Given the description of an element on the screen output the (x, y) to click on. 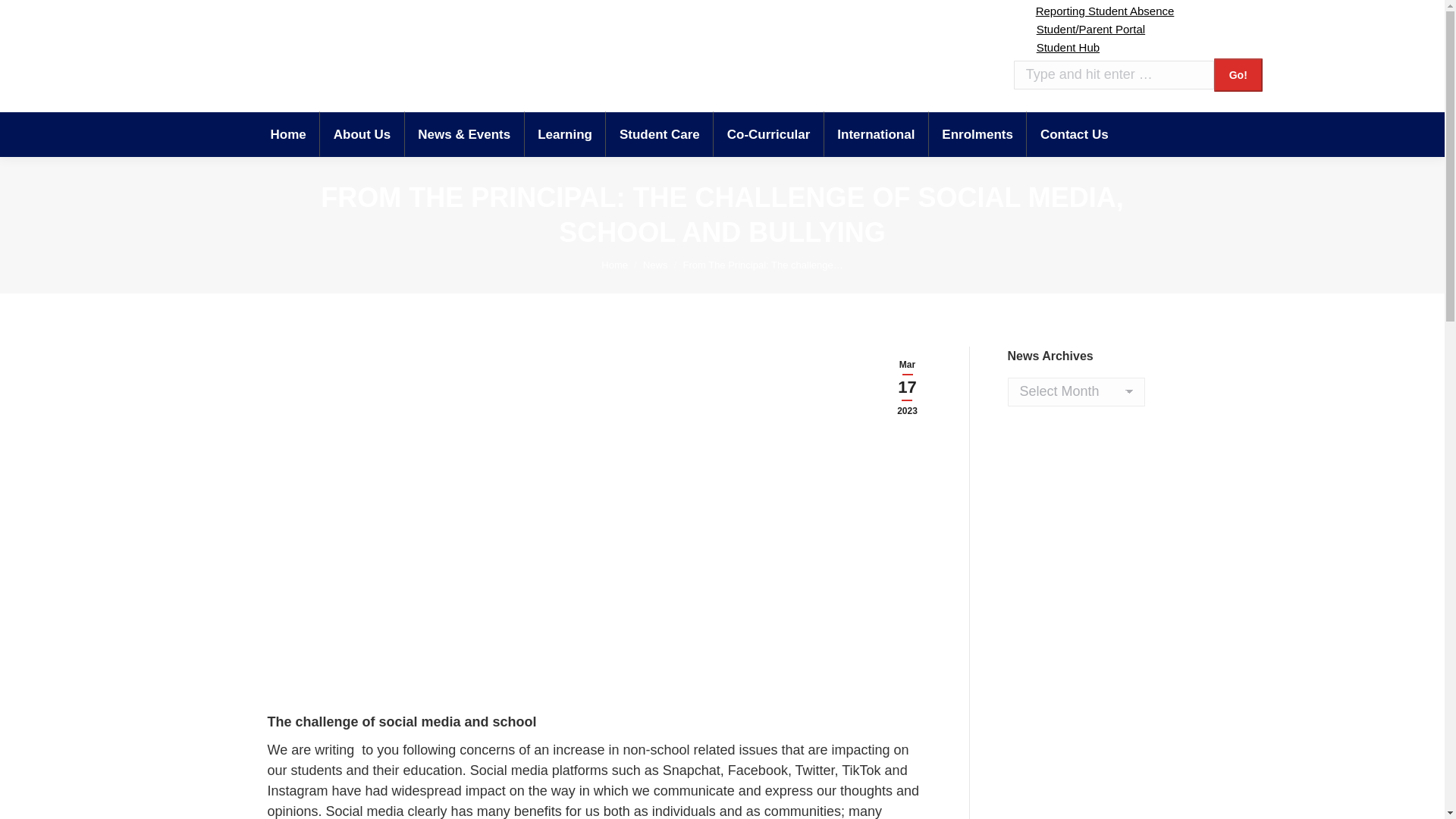
Go! (1238, 74)
Home (614, 265)
News (655, 265)
Learning (564, 133)
Student Hub (1056, 47)
Student Care (659, 133)
About Us (362, 133)
Home (287, 133)
Go! (1238, 74)
Reporting Student Absence (1093, 10)
